Given the description of an element on the screen output the (x, y) to click on. 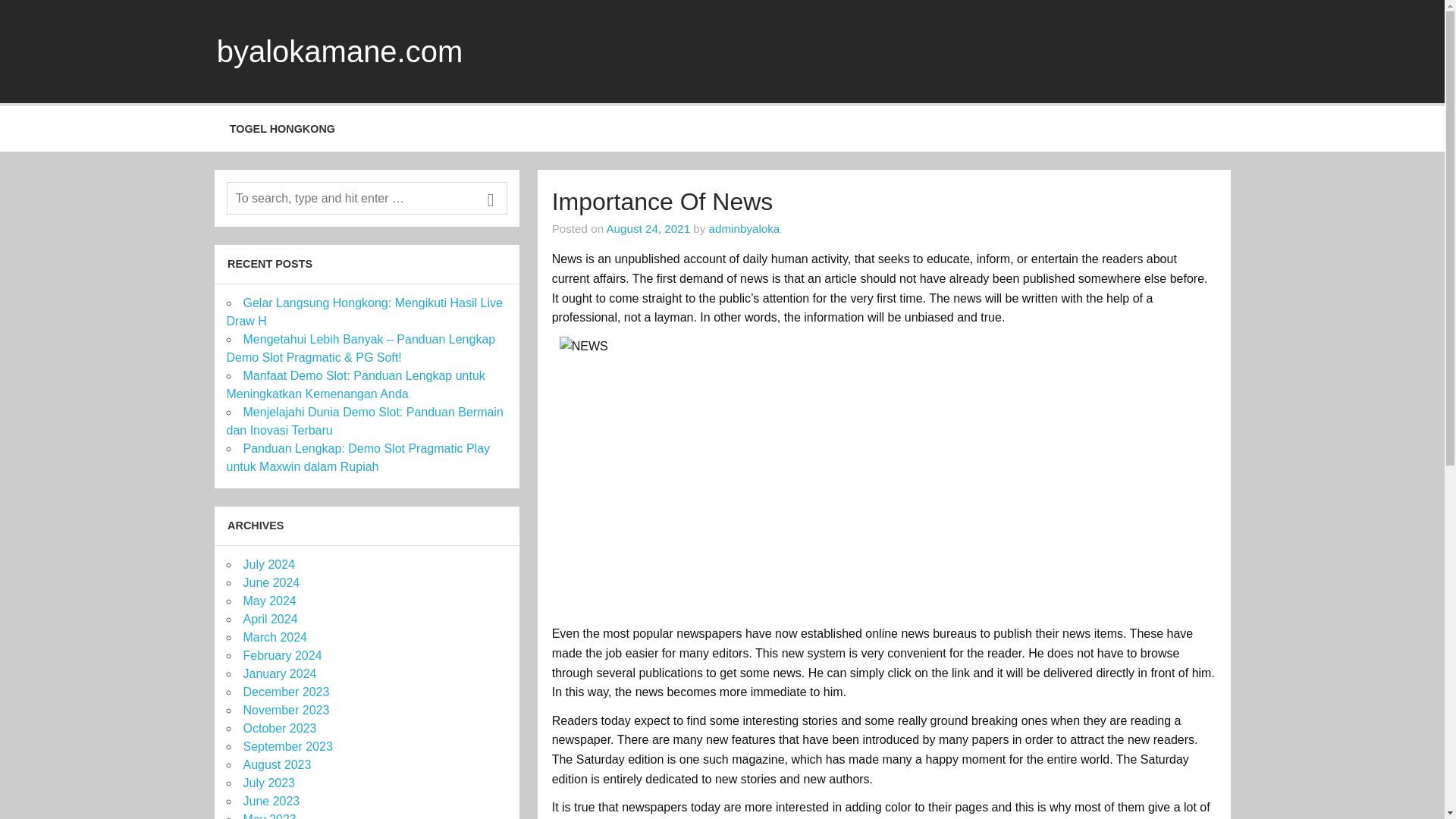
September 2023 (287, 746)
January 2024 (279, 673)
TOGEL HONGKONG (282, 128)
July 2023 (269, 782)
May 2024 (269, 600)
Gelar Langsung Hongkong: Mengikuti Hasil Live Draw H (363, 311)
July 2024 (269, 563)
View all posts by adminbyaloka (744, 228)
August 2023 (277, 764)
May 2023 (269, 816)
August 24, 2021 (647, 228)
March 2024 (275, 636)
June 2024 (271, 582)
11:18 pm (647, 228)
